Given the description of an element on the screen output the (x, y) to click on. 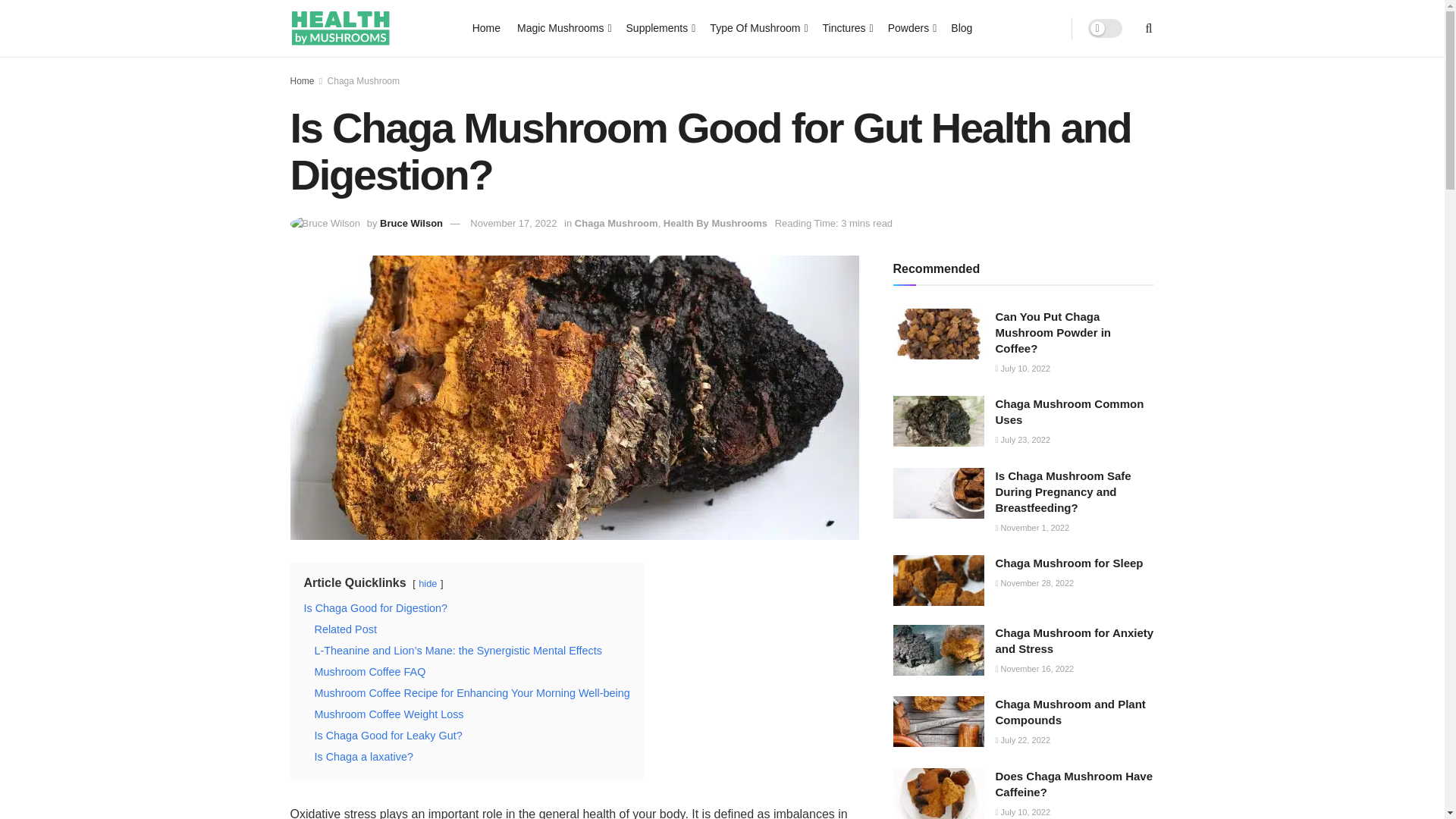
Type Of Mushroom (757, 27)
Magic Mushrooms (563, 27)
Home (485, 27)
Supplements (660, 27)
